Given the description of an element on the screen output the (x, y) to click on. 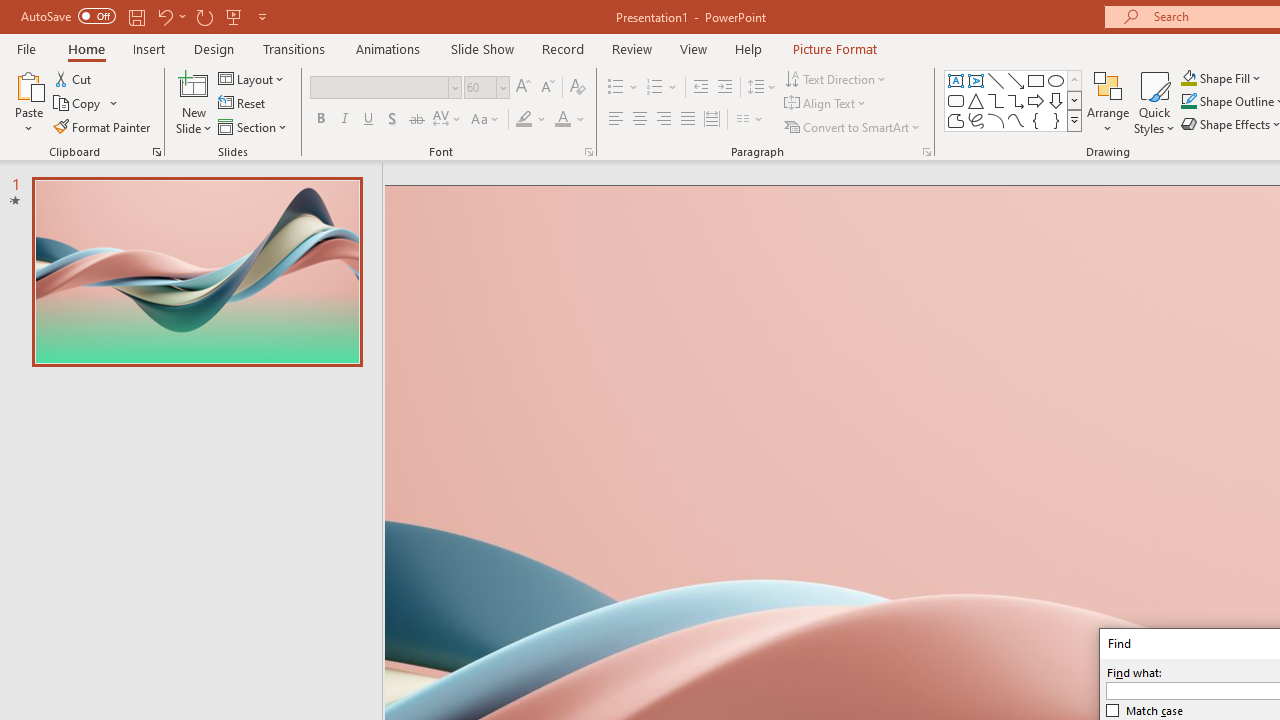
Transitions (294, 48)
Class: NetUIImage (1075, 120)
New Slide (193, 102)
Font (379, 87)
Connector: Elbow Arrow (1016, 100)
New Slide (193, 84)
Character Spacing (447, 119)
Copy (85, 103)
Line (995, 80)
Isosceles Triangle (975, 100)
Connector: Elbow (995, 100)
Clear Formatting (577, 87)
Rectangle (1035, 80)
